Given the description of an element on the screen output the (x, y) to click on. 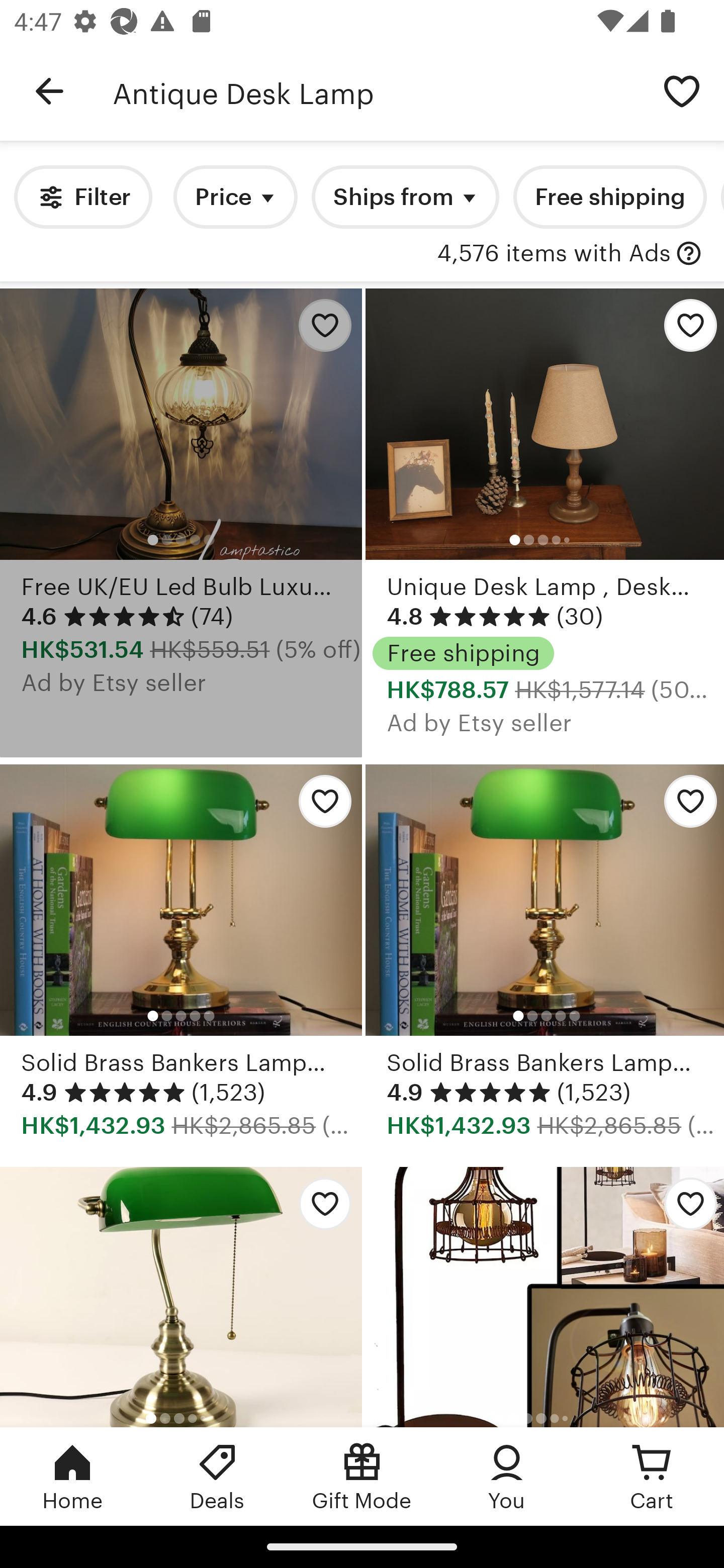
Navigate up (49, 91)
Save search (681, 90)
Antique Desk Lamp (375, 91)
Filter (82, 197)
Price (235, 197)
Ships from (405, 197)
Free shipping (609, 197)
4,576 items with Ads (553, 253)
with Ads (688, 253)
Deals (216, 1475)
Gift Mode (361, 1475)
You (506, 1475)
Cart (651, 1475)
